Given the description of an element on the screen output the (x, y) to click on. 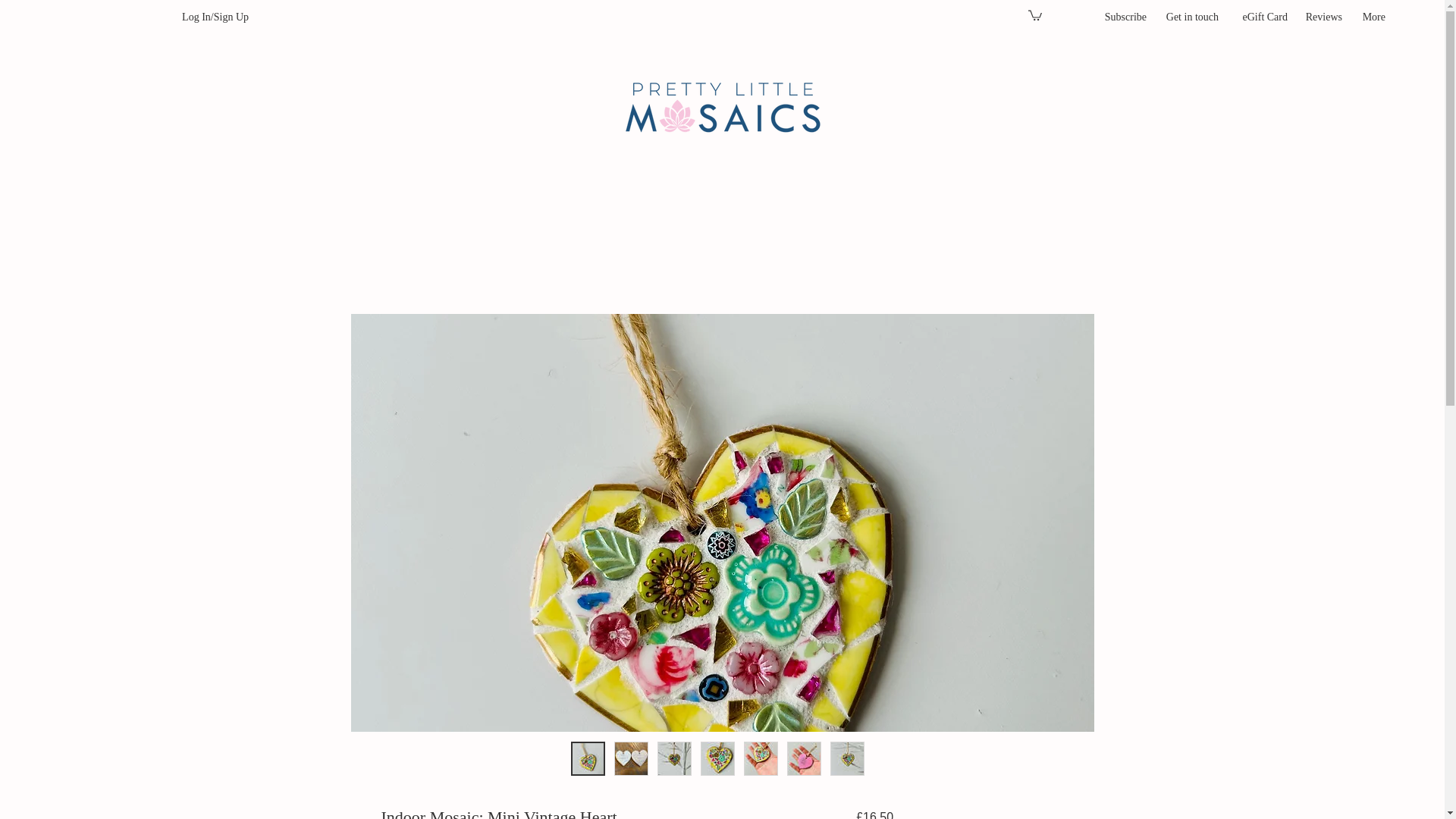
Subscribe (1123, 16)
eGift Card (1260, 16)
Reviews (1322, 16)
Get in touch (1189, 16)
